Given the description of an element on the screen output the (x, y) to click on. 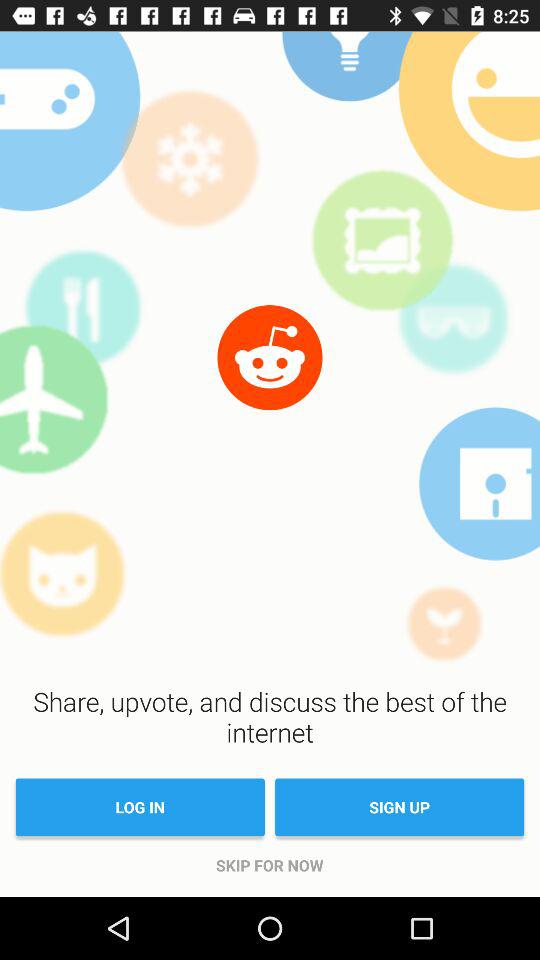
turn on skip for now (269, 865)
